Given the description of an element on the screen output the (x, y) to click on. 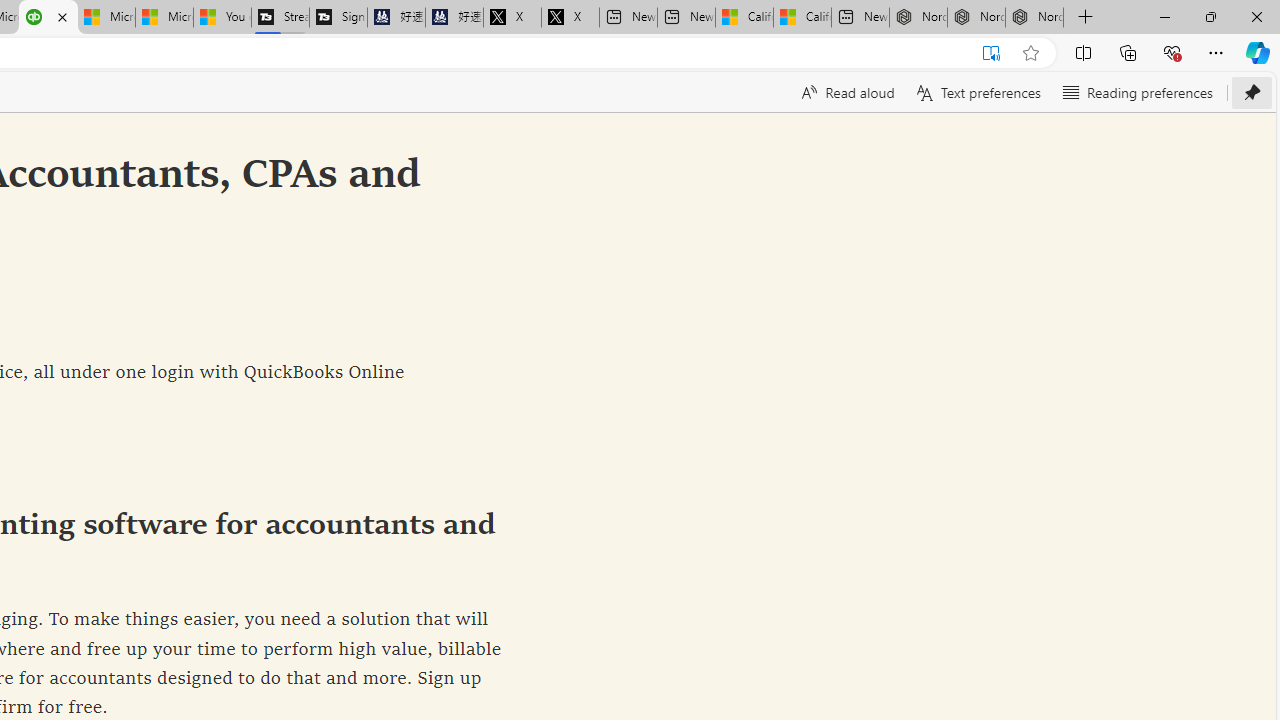
Unpin toolbar (1252, 92)
